Given the description of an element on the screen output the (x, y) to click on. 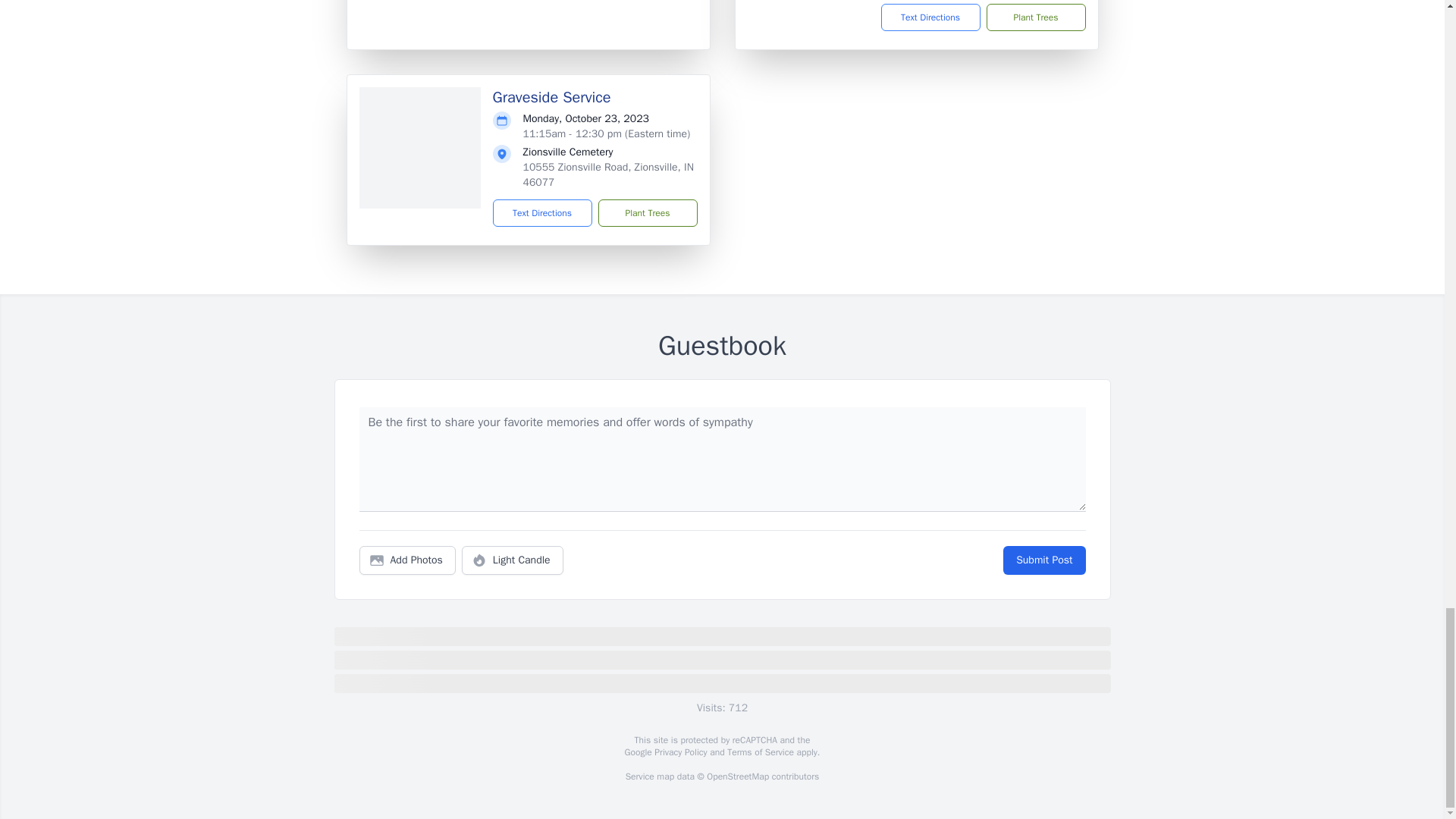
Text Directions (542, 212)
10555 Zionsville Road, Zionsville, IN 46077 (608, 173)
Light Candle (512, 559)
Text Directions (929, 17)
Plant Trees (1034, 17)
Submit Post (1043, 559)
Plant Trees (646, 212)
Add Photos (407, 559)
